Given the description of an element on the screen output the (x, y) to click on. 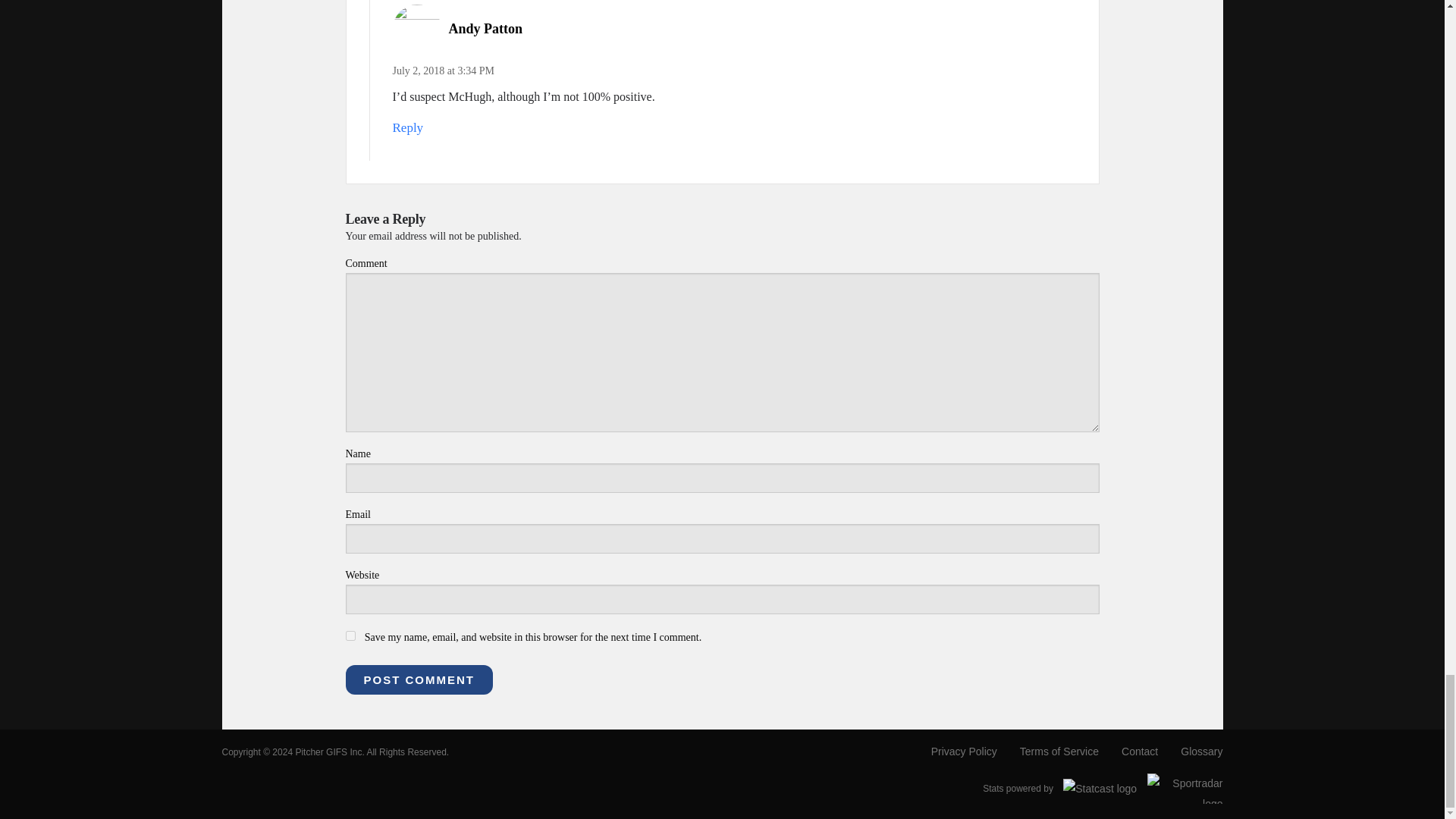
Post Comment (419, 679)
yes (350, 635)
